Given the description of an element on the screen output the (x, y) to click on. 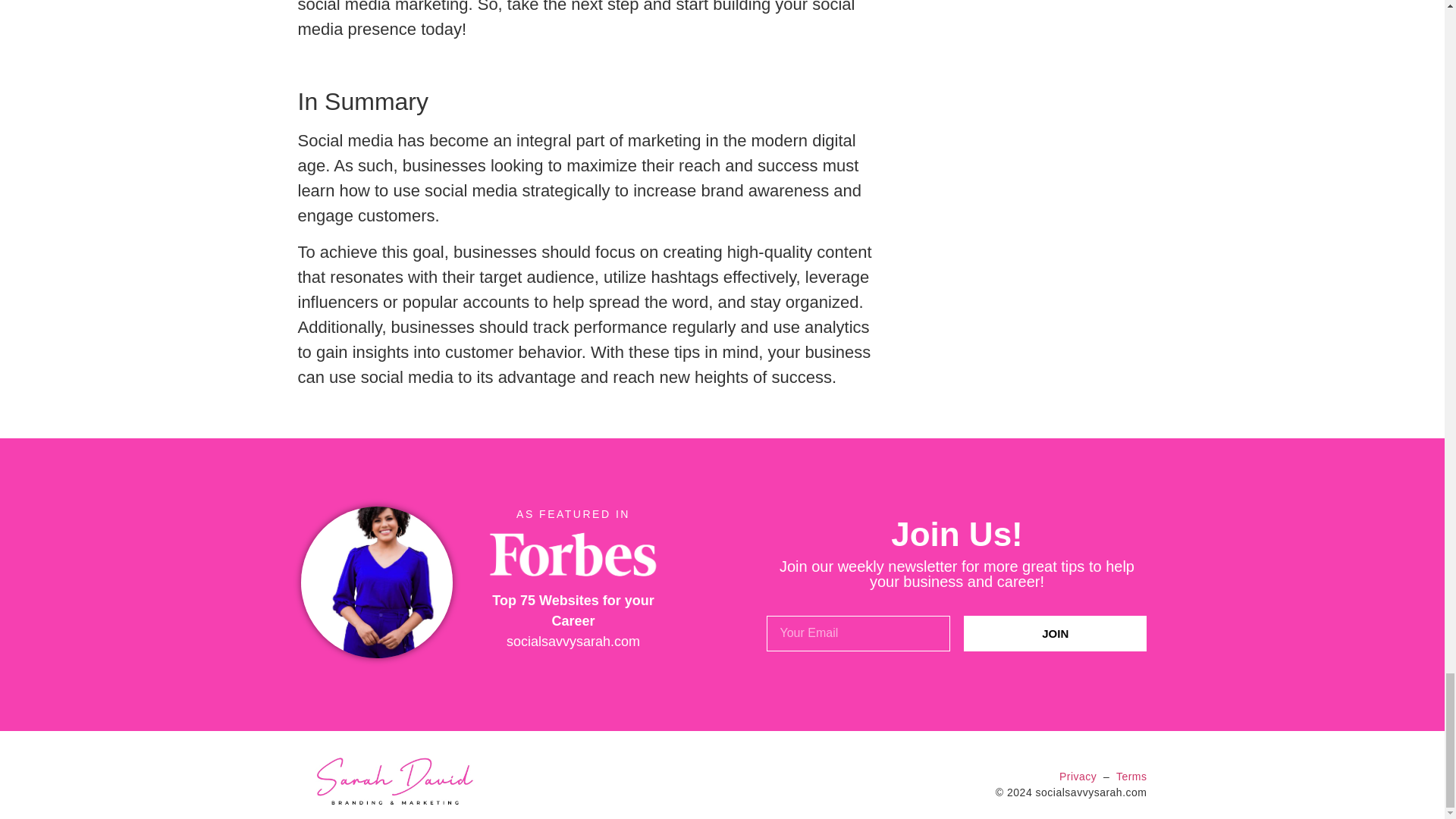
Terms (1131, 776)
JOIN (1055, 633)
Privacy (1077, 776)
